Given the description of an element on the screen output the (x, y) to click on. 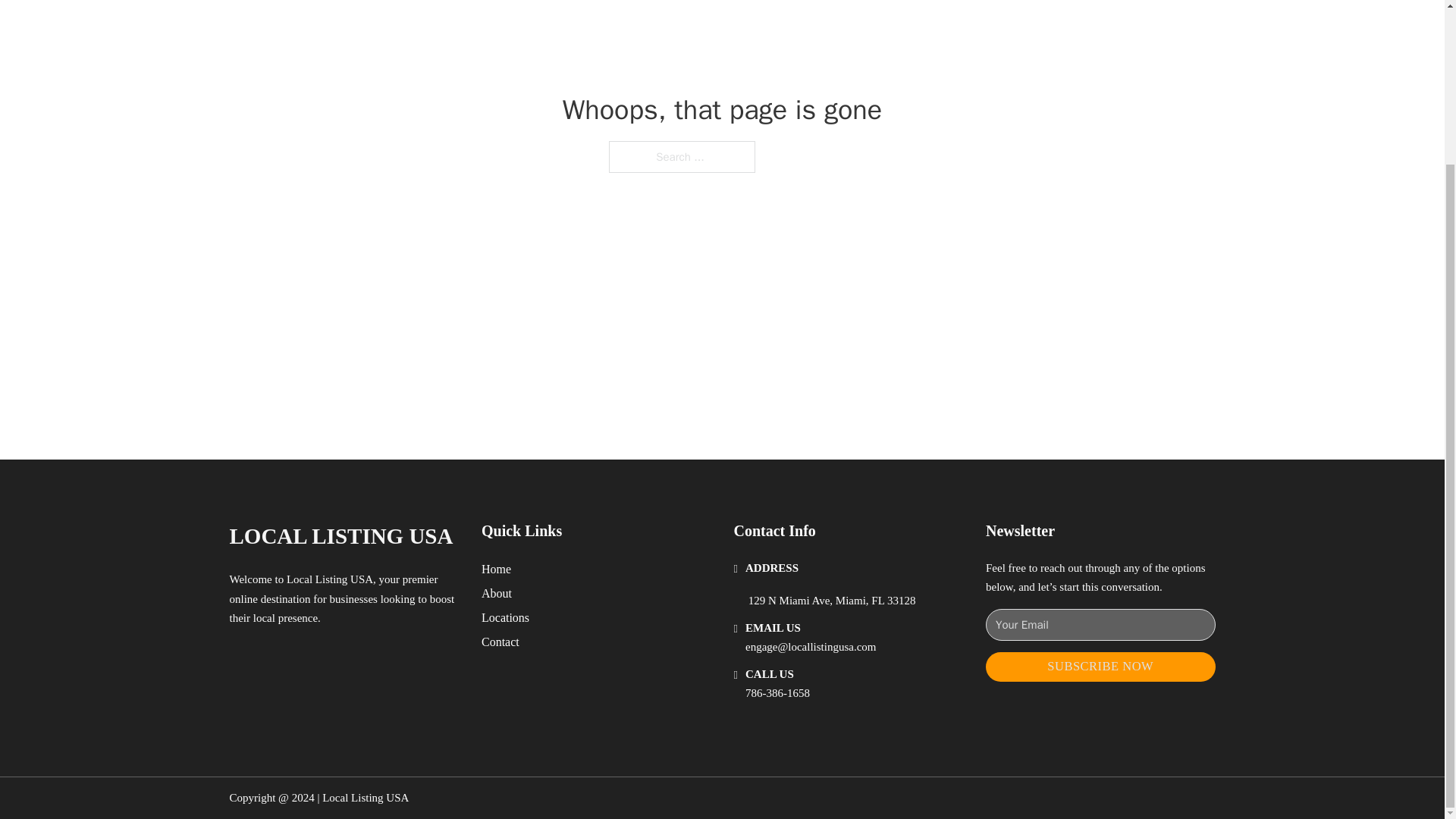
Contact (500, 641)
About (496, 593)
LOCAL LISTING USA (340, 536)
Locations (505, 617)
Home (496, 568)
SUBSCRIBE NOW (1100, 666)
786-386-1658 (777, 693)
